Given the description of an element on the screen output the (x, y) to click on. 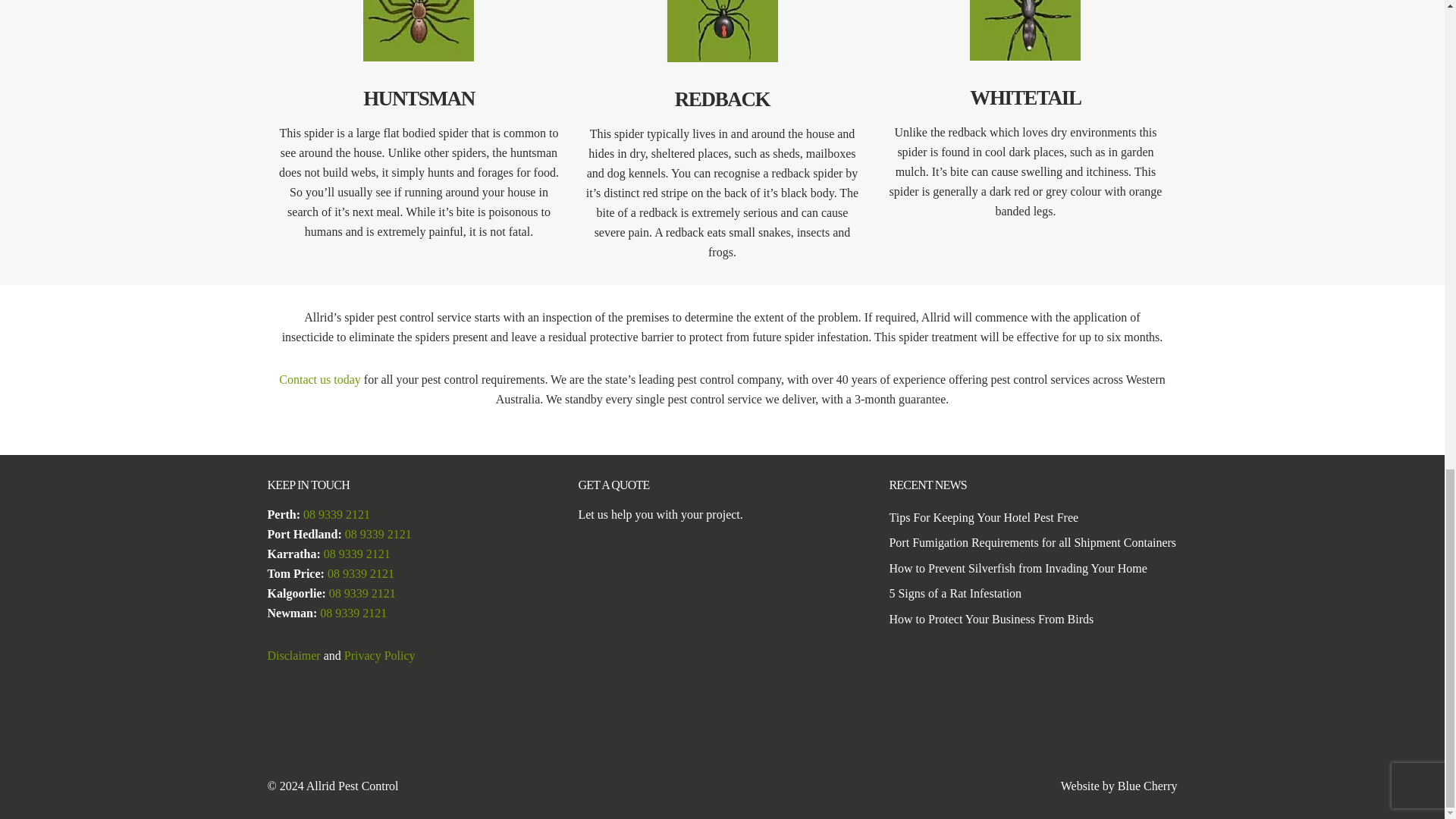
redback (721, 31)
whitetail (1025, 30)
huntsman (418, 30)
